Given the description of an element on the screen output the (x, y) to click on. 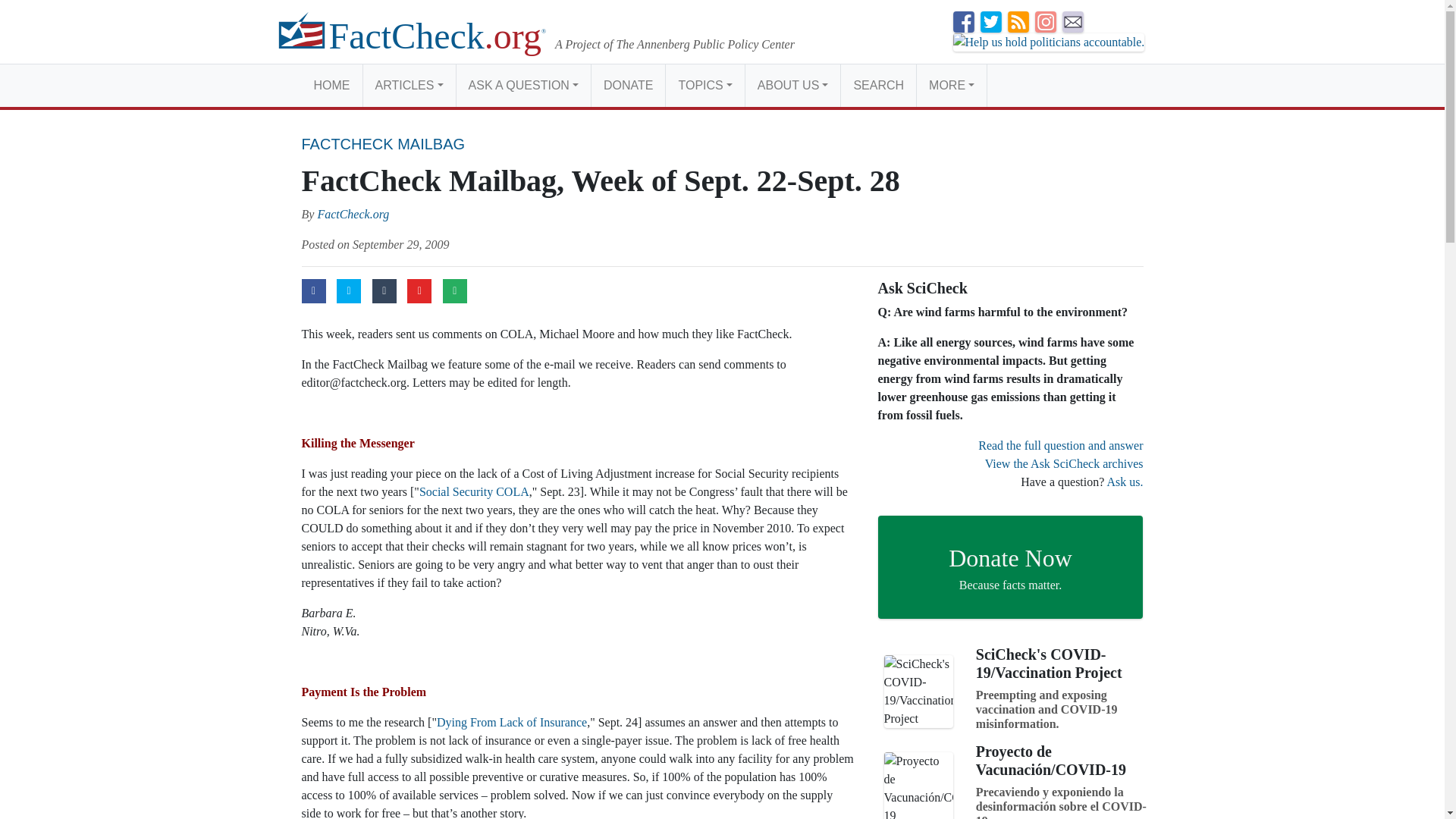
Topics (704, 85)
ASK A QUESTION (524, 85)
Donate (627, 85)
TOPICS (704, 85)
Articles (408, 85)
ABOUT US (792, 85)
DONATE (627, 85)
Ask a Question (524, 85)
HOME (331, 85)
ARTICLES (408, 85)
Home (331, 85)
